Given the description of an element on the screen output the (x, y) to click on. 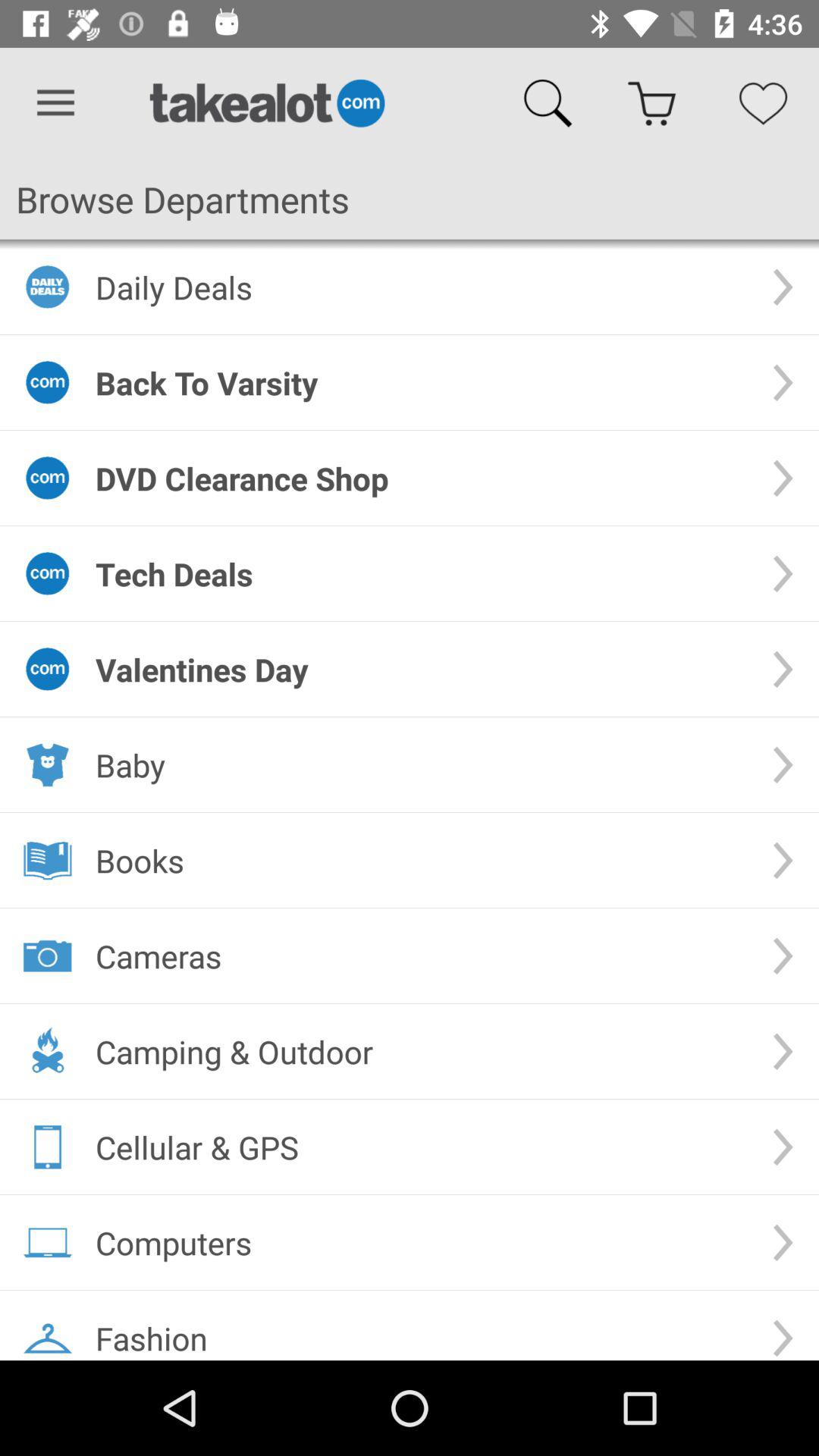
click the baby (421, 764)
